Given the description of an element on the screen output the (x, y) to click on. 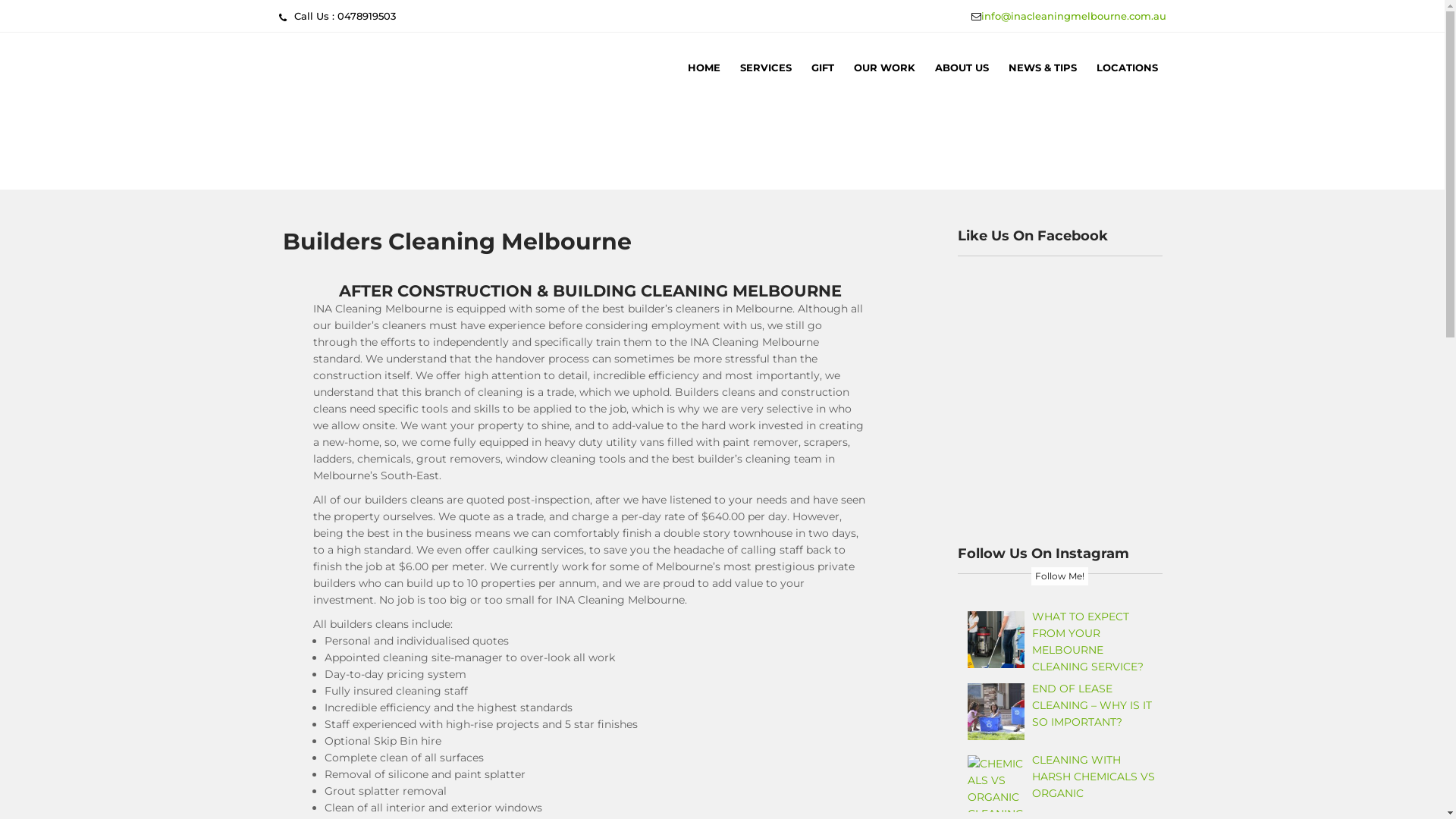
GIFT Element type: text (821, 67)
ABOUT US Element type: text (961, 67)
HOME Element type: text (703, 67)
info@inacleaningmelbourne.com.au Element type: text (1073, 15)
CLEANING WITH HARSH CHEMICALS VS ORGANIC Element type: text (1093, 776)
NEWS & TIPS Element type: text (1041, 67)
SERVICES Element type: text (765, 67)
LOCATIONS Element type: text (1126, 67)
Follow Me! Element type: text (1059, 576)
Best Cleaning services in Melbourne Element type: text (486, 184)
WHAT TO EXPECT FROM YOUR MELBOURNE CLEANING SERVICE? Element type: text (1087, 641)
OUR WORK Element type: text (883, 67)
